Given the description of an element on the screen output the (x, y) to click on. 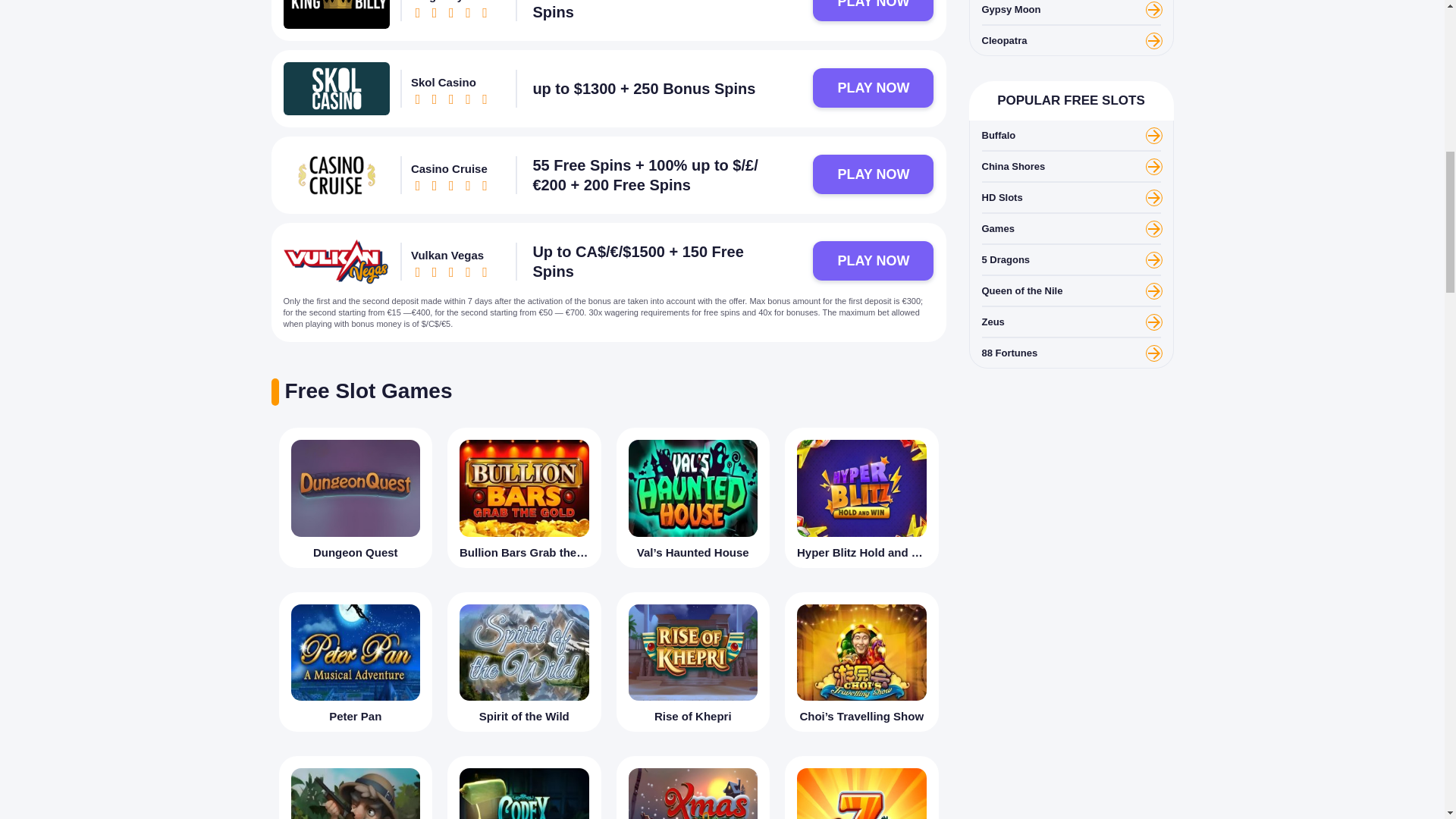
Dungeon Quest (355, 497)
Dungeon-Quest (355, 488)
Rise of Khepri (692, 662)
Bullion-Bars-Grab-the-Gold (524, 488)
Rise-of-Khepri (692, 652)
Peter-Pan-MikoApps (355, 652)
Spirit of the Wild (523, 662)
HUCA (355, 787)
Val-s-Haunted-House (692, 488)
Chois-Travelling-Show (861, 652)
Bullion Bars Grab the Gold (523, 497)
Hyper-Blitz-Hold-and-Win (861, 488)
Hyper Blitz Hold and Win (861, 497)
Spirit-of-the-Wild (524, 652)
Peter Pan (355, 662)
